Given the description of an element on the screen output the (x, y) to click on. 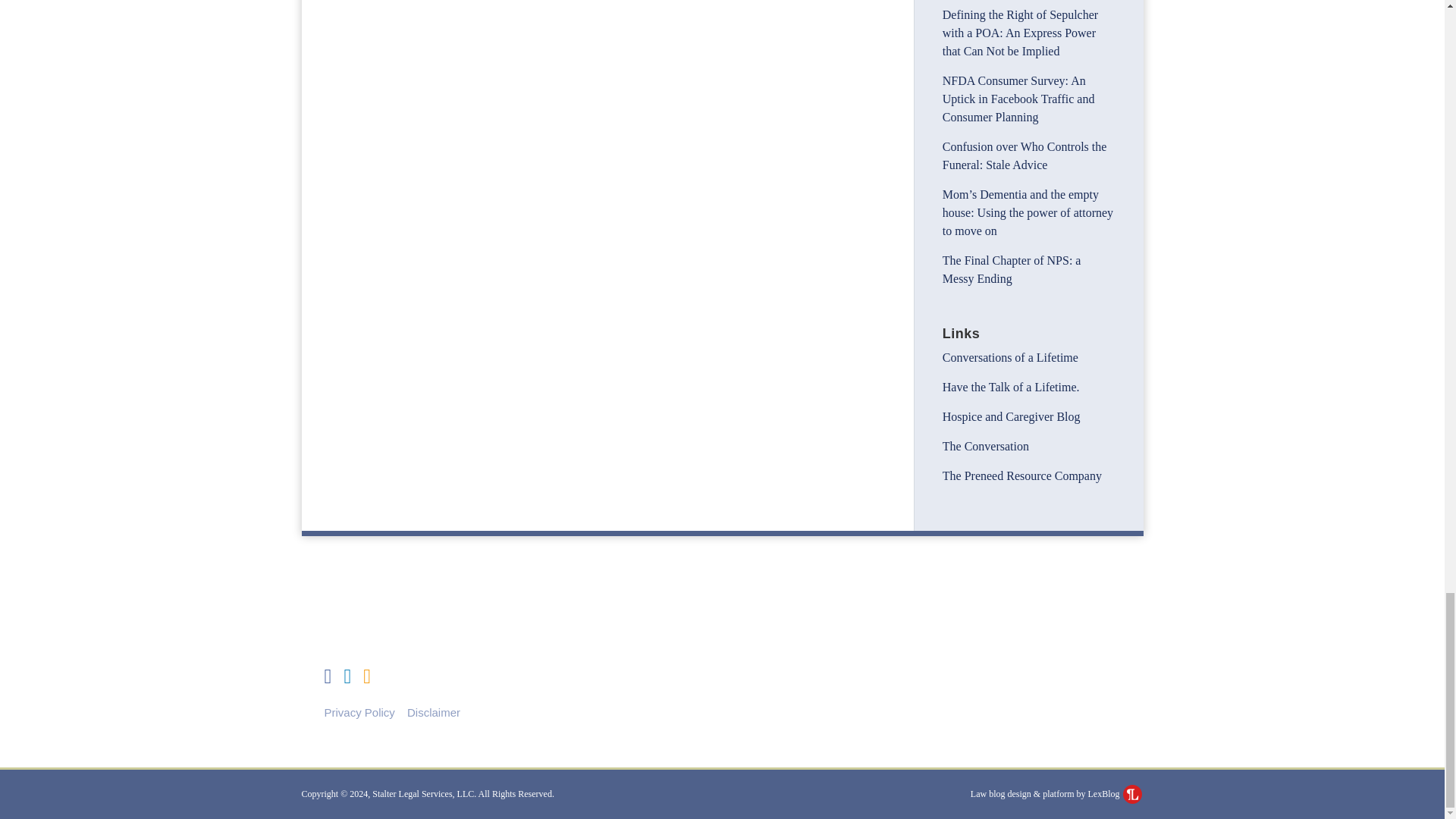
LexBlog Logo (1131, 793)
